Given the description of an element on the screen output the (x, y) to click on. 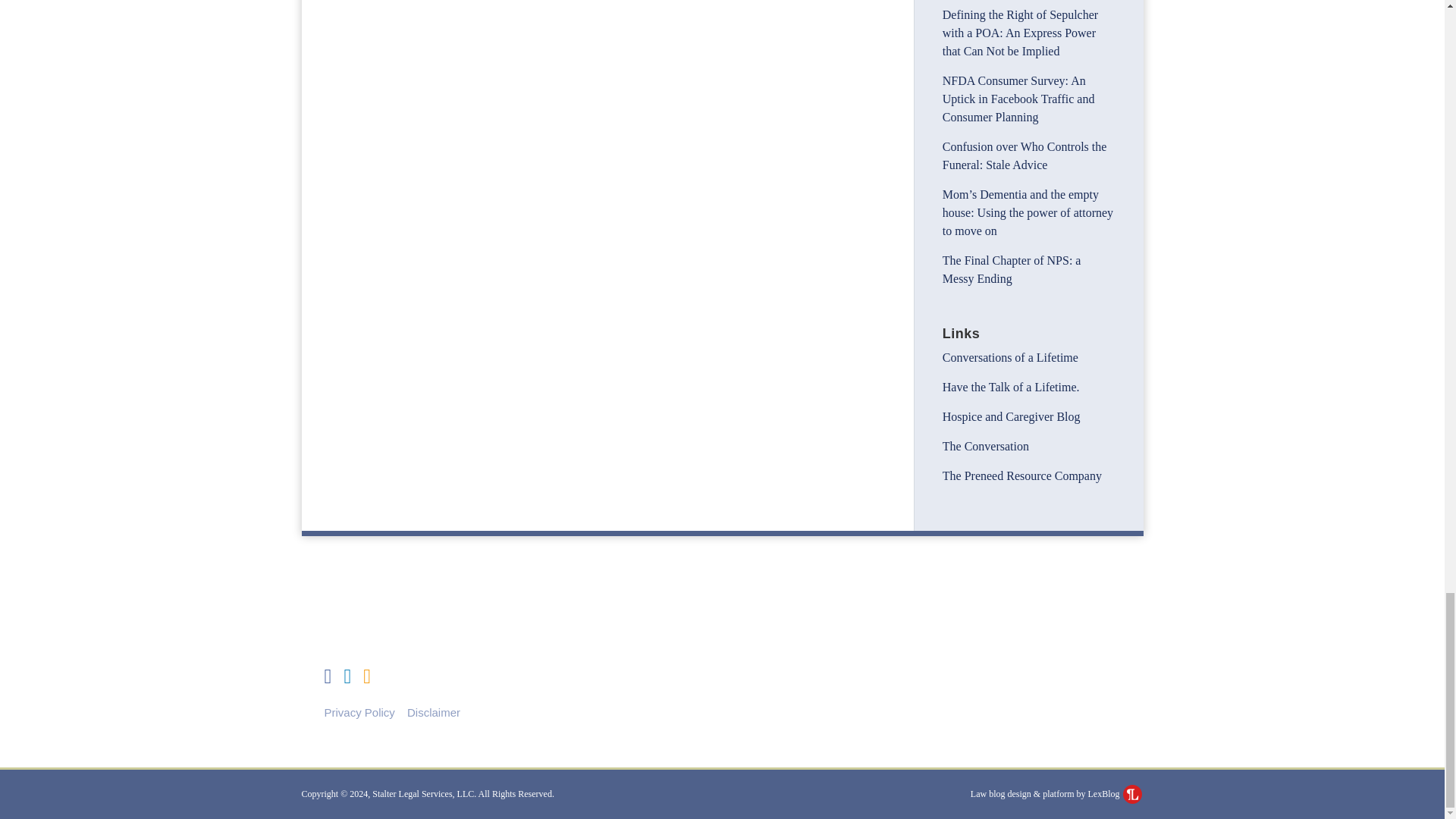
LexBlog Logo (1131, 793)
